Given the description of an element on the screen output the (x, y) to click on. 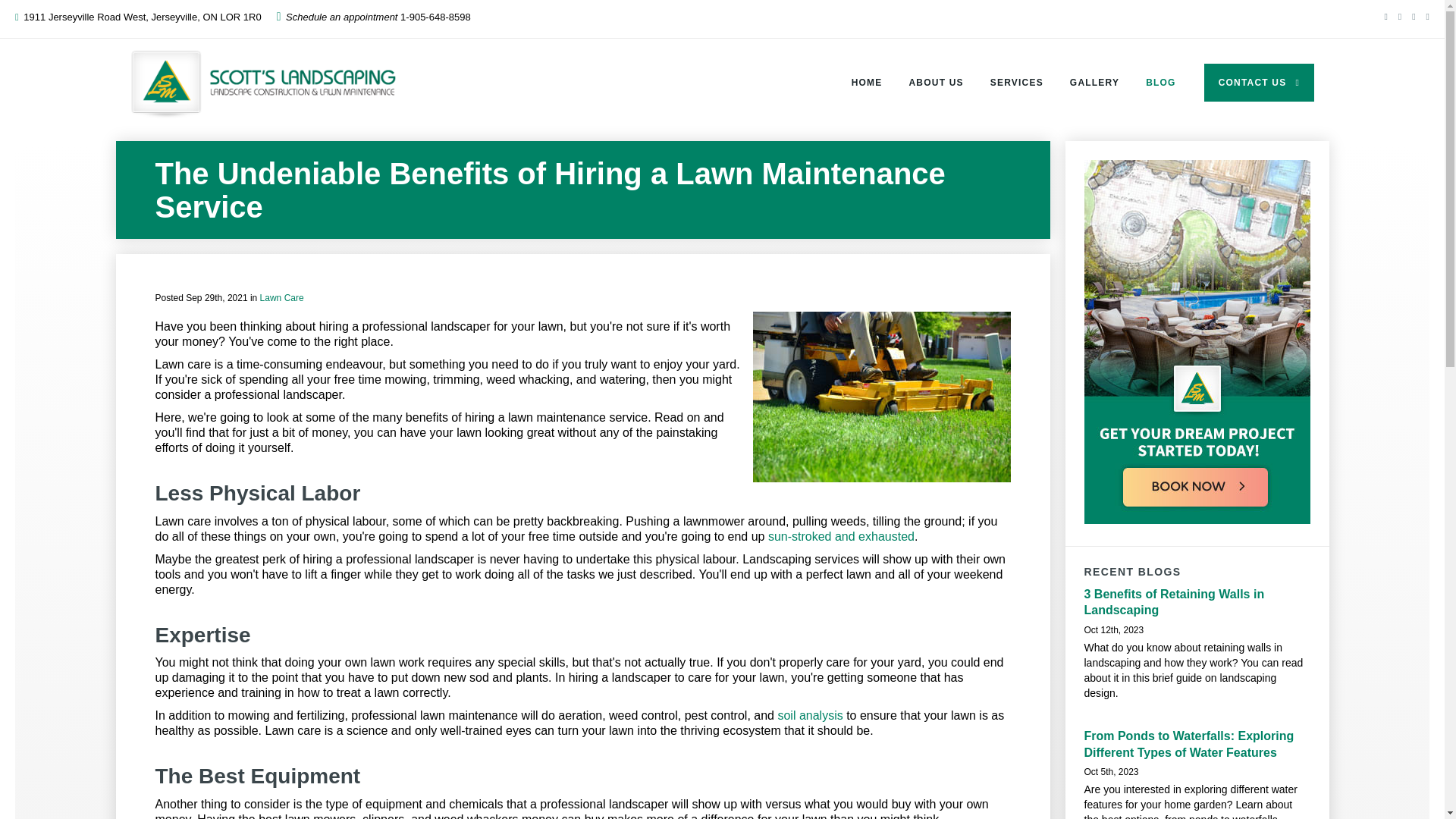
Landscaping Services (1016, 82)
Call us today to book an appointment (435, 16)
1-905-648-8598 (435, 16)
About Scott's Landscaping and his Team (935, 82)
HOME (866, 82)
ABOUT US (935, 82)
Home (866, 82)
SERVICES (1016, 82)
